Given the description of an element on the screen output the (x, y) to click on. 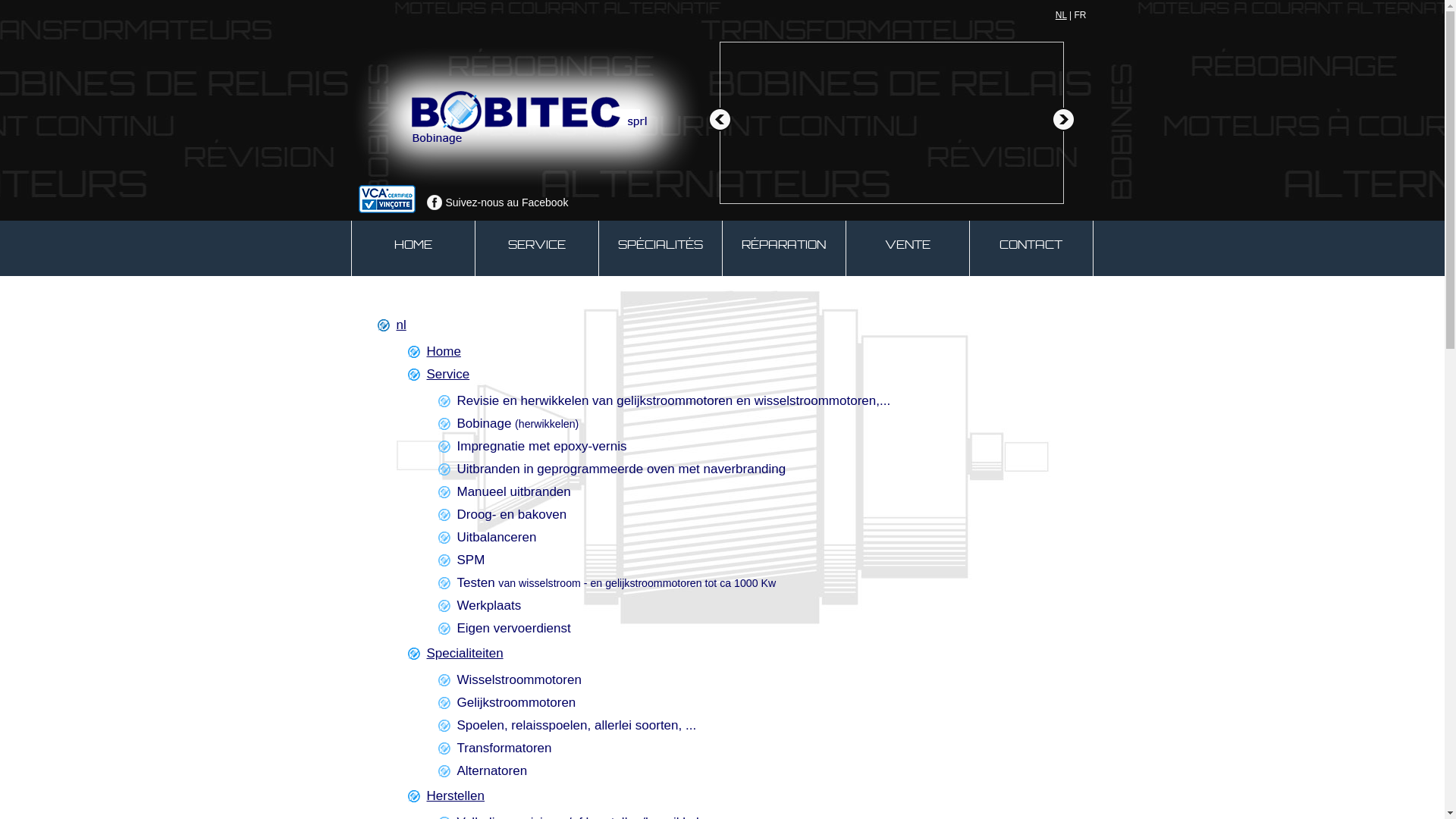
VENTE Element type: text (907, 248)
SERVICE Element type: text (535, 248)
CONTACT Element type: text (1030, 248)
Specialiteiten Element type: text (464, 653)
Next Element type: text (1063, 118)
HOME Element type: text (412, 248)
NL Element type: text (1060, 14)
Previous Element type: text (718, 118)
Suivez-nous au Facebook Element type: text (496, 202)
nl Element type: text (400, 324)
Herstellen Element type: text (455, 795)
Service Element type: text (447, 374)
Home Element type: text (443, 351)
